Given the description of an element on the screen output the (x, y) to click on. 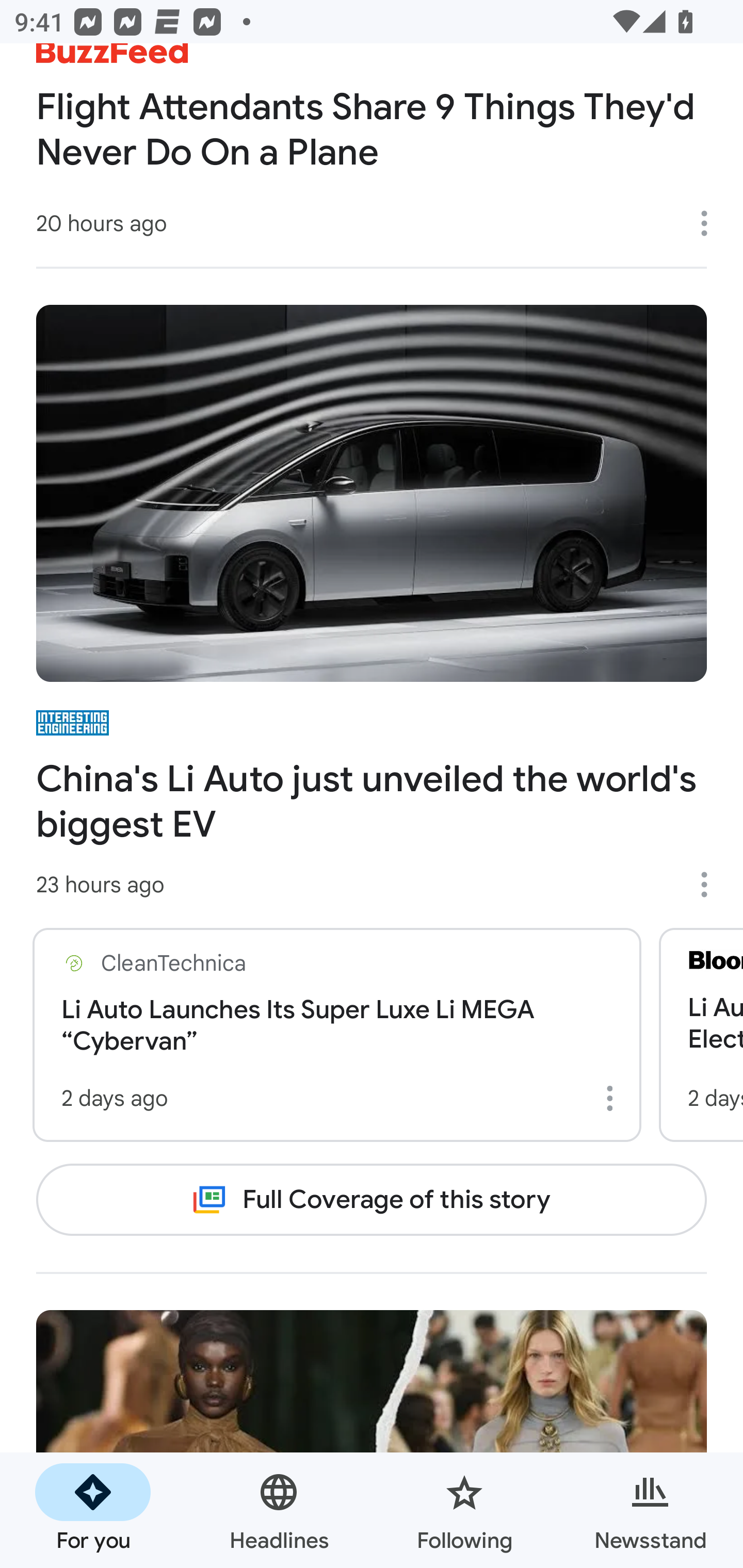
More options (711, 223)
More options (711, 884)
More options (613, 1097)
Full Coverage of this story (371, 1199)
For you (92, 1509)
Headlines (278, 1509)
Following (464, 1509)
Newsstand (650, 1509)
